Given the description of an element on the screen output the (x, y) to click on. 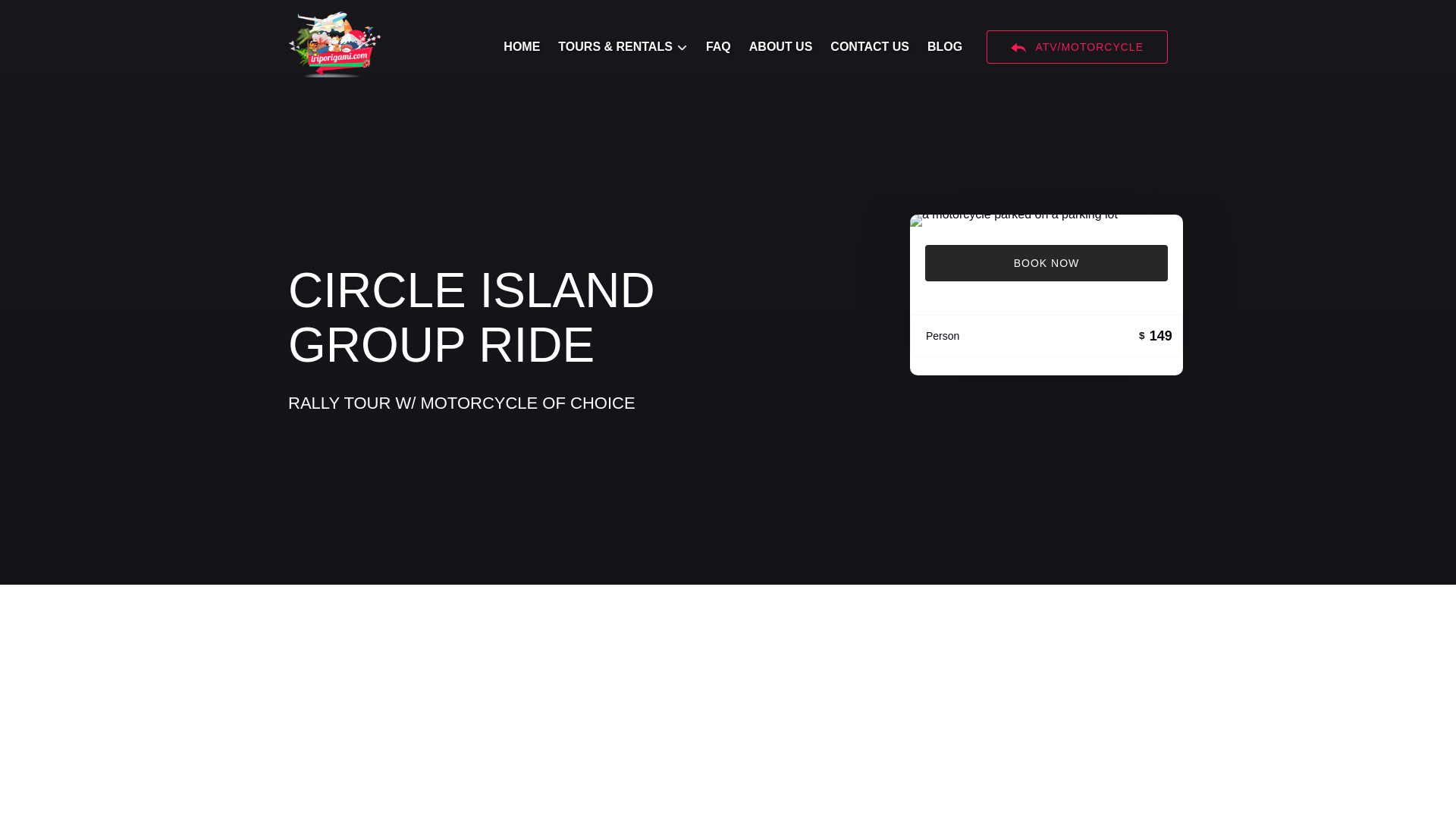
BLOG (944, 46)
HOME (521, 46)
BACK ARROW (1018, 47)
ABOUT US (780, 46)
FAQ (718, 46)
Skip to content (47, 16)
Skip to primary navigation (77, 16)
BOOK NOW (1045, 262)
Skip to footer (42, 16)
CONTACT US (869, 46)
